Given the description of an element on the screen output the (x, y) to click on. 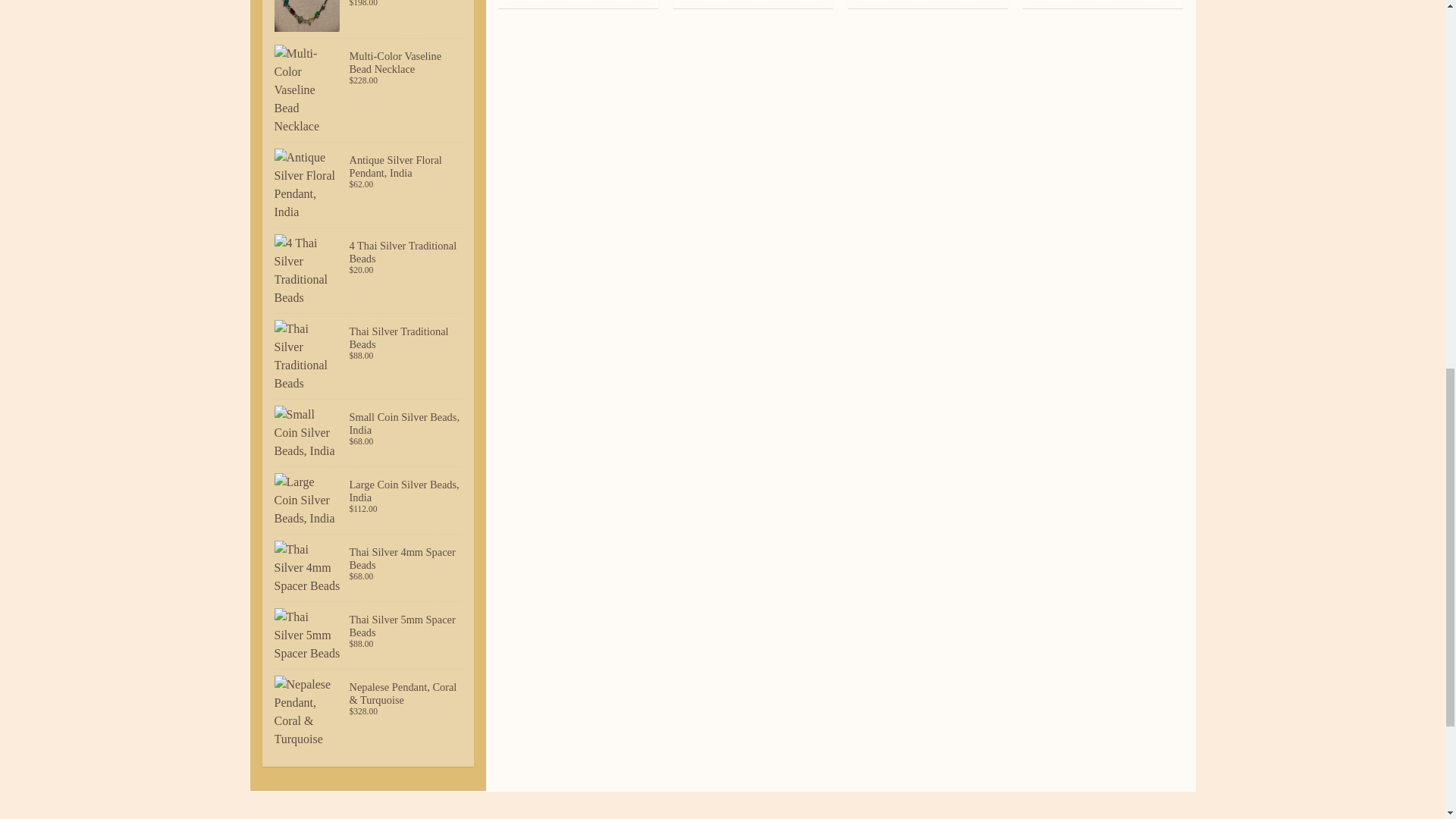
Thai Silver 5mm Spacer Beads (369, 635)
4 Thai Silver Traditional  Beads (369, 269)
Thai Silver Traditional  Beads (369, 355)
Antique Silver Floral Pendant, India (369, 184)
Multi-Color Vaseline Bead Necklace (369, 18)
Large Coin Silver Beads, India (369, 499)
Thai Silver 4mm Spacer Beads (369, 566)
Small Coin Silver Beads, India (369, 432)
Multi-Color Vaseline Bead Necklace (369, 88)
